Given the description of an element on the screen output the (x, y) to click on. 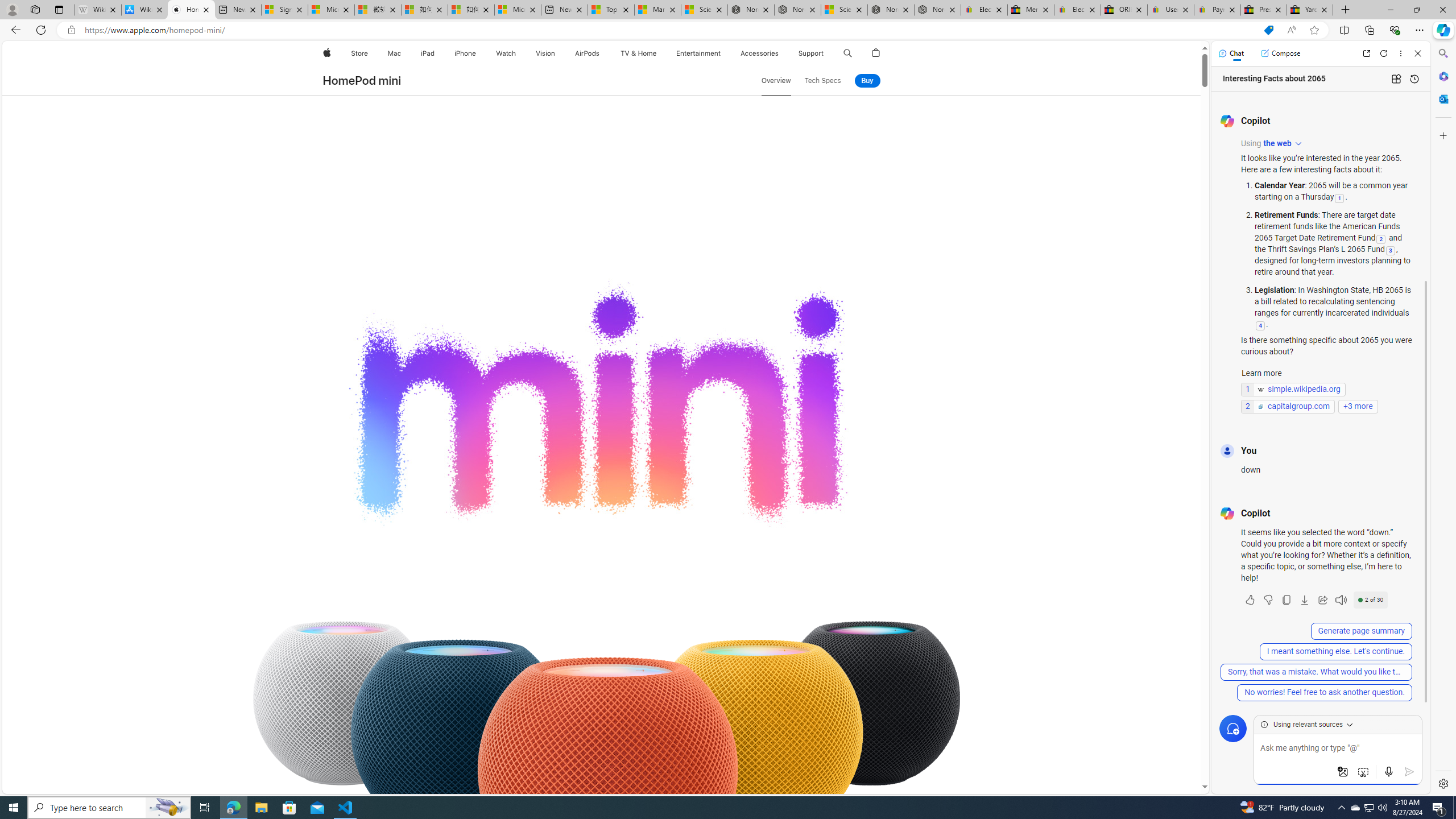
Buy HomePod mini (867, 80)
iPhone (464, 53)
AirPods (587, 53)
Mac menu (402, 53)
Tech Specs (822, 80)
